Given the description of an element on the screen output the (x, y) to click on. 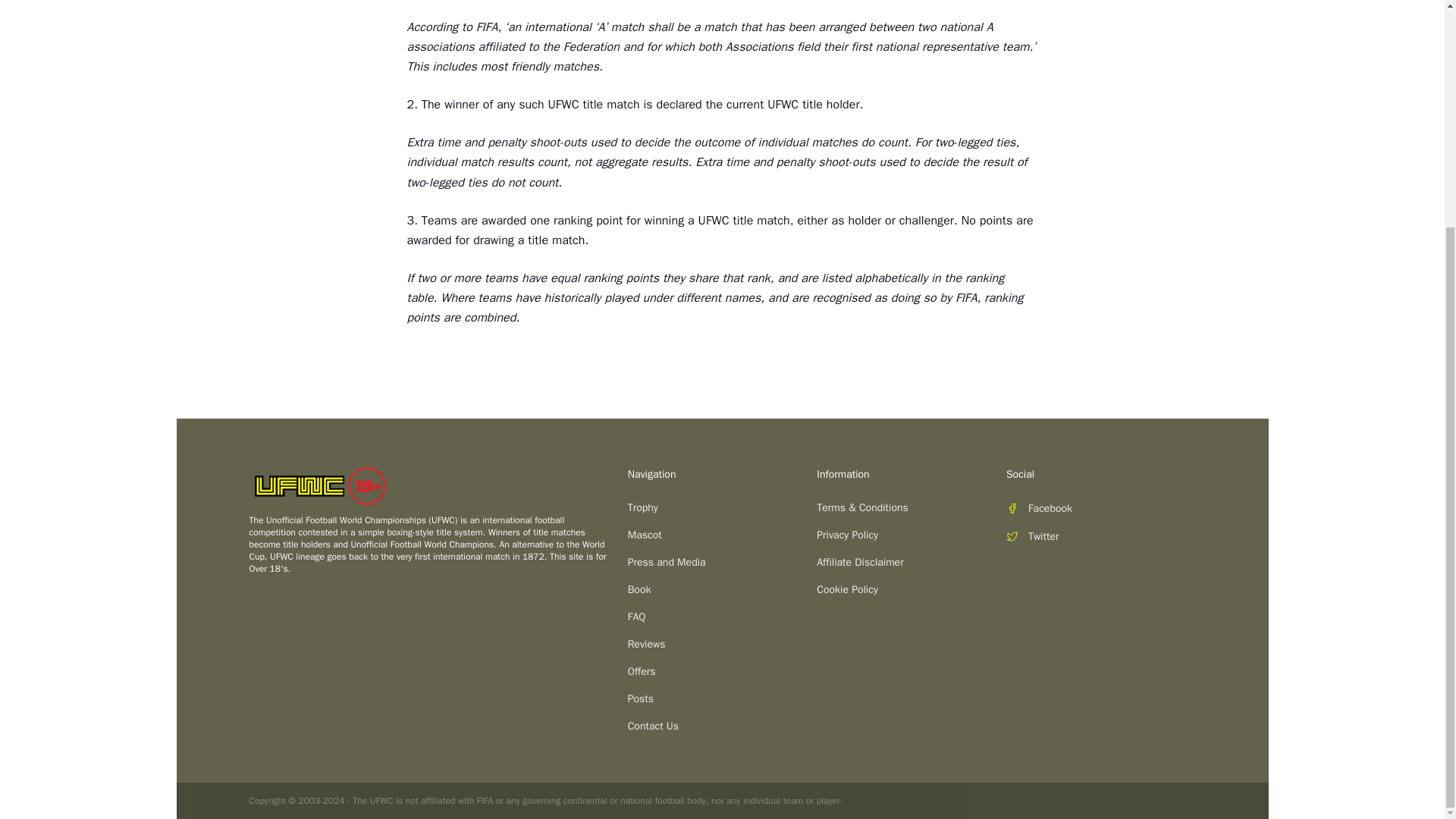
Reviews (721, 644)
Contact Us (721, 726)
Offers (721, 671)
Cookie Policy (911, 589)
Privacy Policy (911, 534)
FAQ (721, 616)
Posts (721, 698)
Book (721, 589)
Affiliate Disclaimer (911, 562)
Trophy (721, 507)
